Given the description of an element on the screen output the (x, y) to click on. 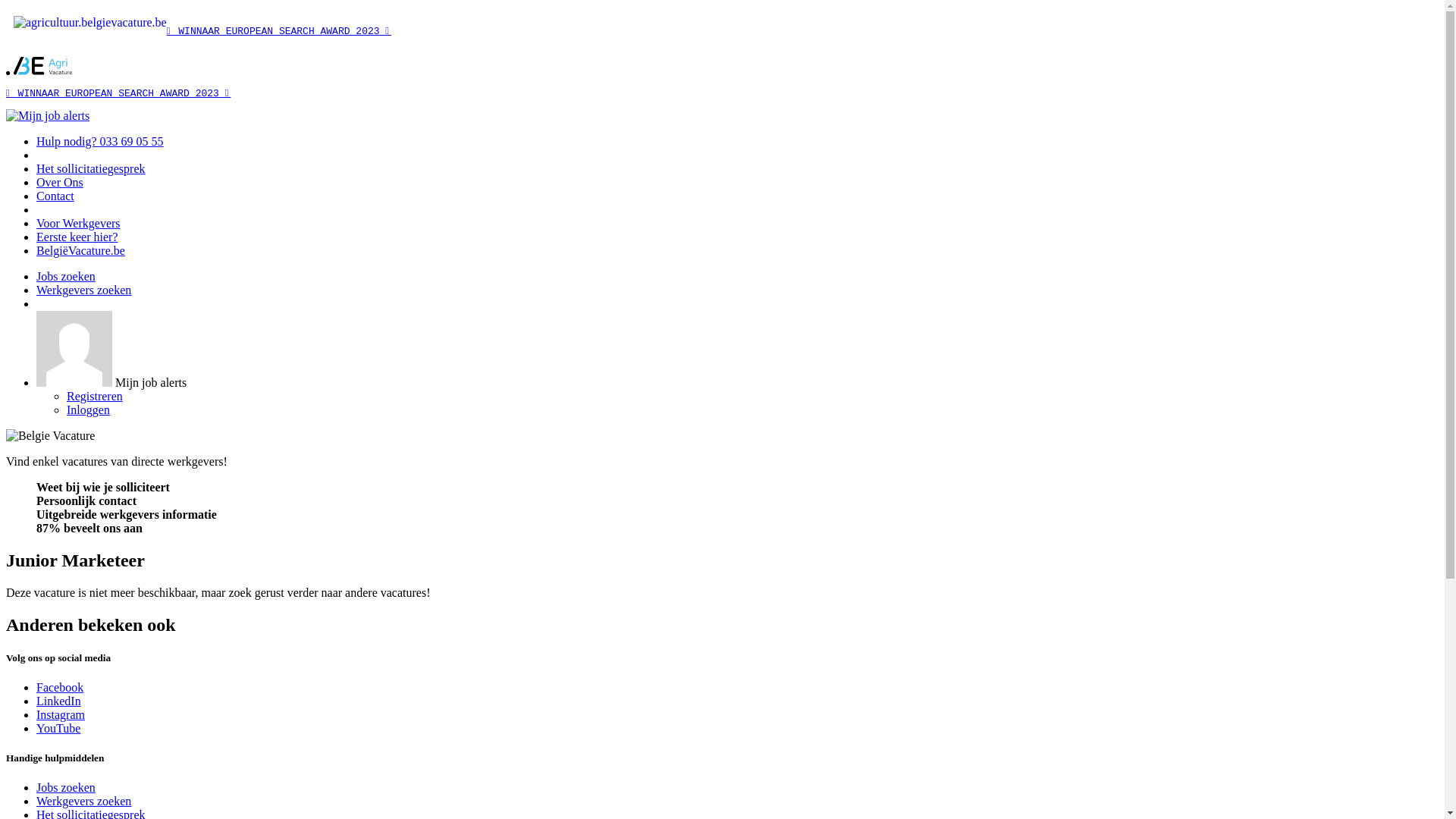
Hulp nodig? 033 69 05 55 Element type: text (99, 140)
Contact Element type: text (55, 195)
Jobs zoeken Element type: text (65, 275)
Werkgevers zoeken Element type: text (83, 289)
Werkgevers zoeken Element type: text (83, 800)
Inloggen Element type: text (87, 409)
Over Ons Element type: text (59, 181)
agricultuur.belgievacature.be Element type: hover (39, 70)
Het sollicitatiegesprek Element type: text (90, 168)
Registreren Element type: text (94, 395)
Voor Werkgevers Element type: text (78, 222)
Eerste keer hier? Element type: text (76, 236)
YouTube Element type: text (58, 727)
Instagram Element type: text (60, 714)
LinkedIn Element type: text (58, 700)
Jobs zoeken Element type: text (65, 787)
Facebook Element type: text (59, 686)
